Given the description of an element on the screen output the (x, y) to click on. 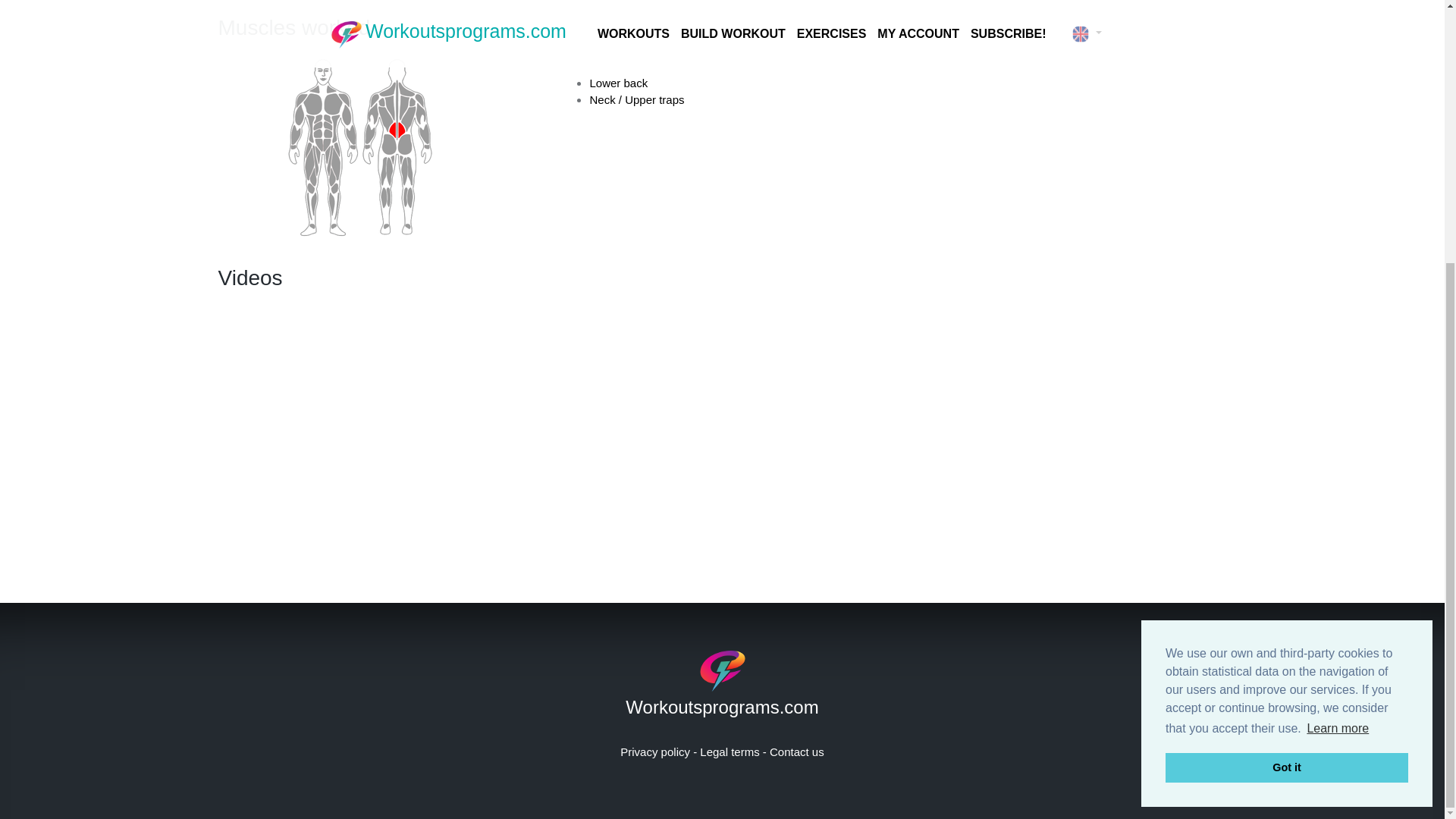
Privacy policy - Legal terms (691, 751)
- Contact us (793, 751)
Got it (1286, 388)
Learn more (1337, 350)
Lower back (618, 82)
YouTube video player (721, 421)
